Given the description of an element on the screen output the (x, y) to click on. 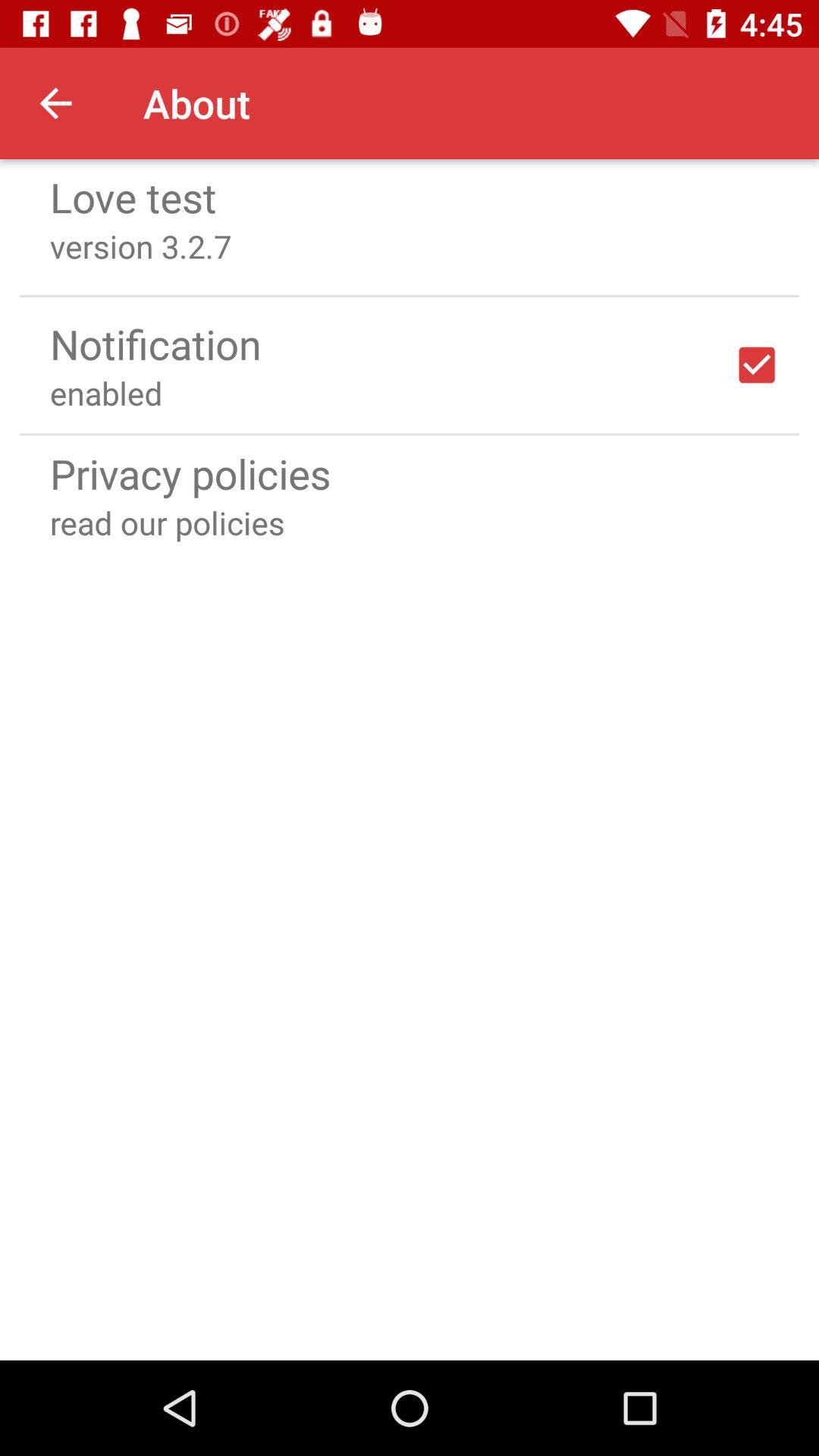
open the item above privacy policies item (409, 434)
